Given the description of an element on the screen output the (x, y) to click on. 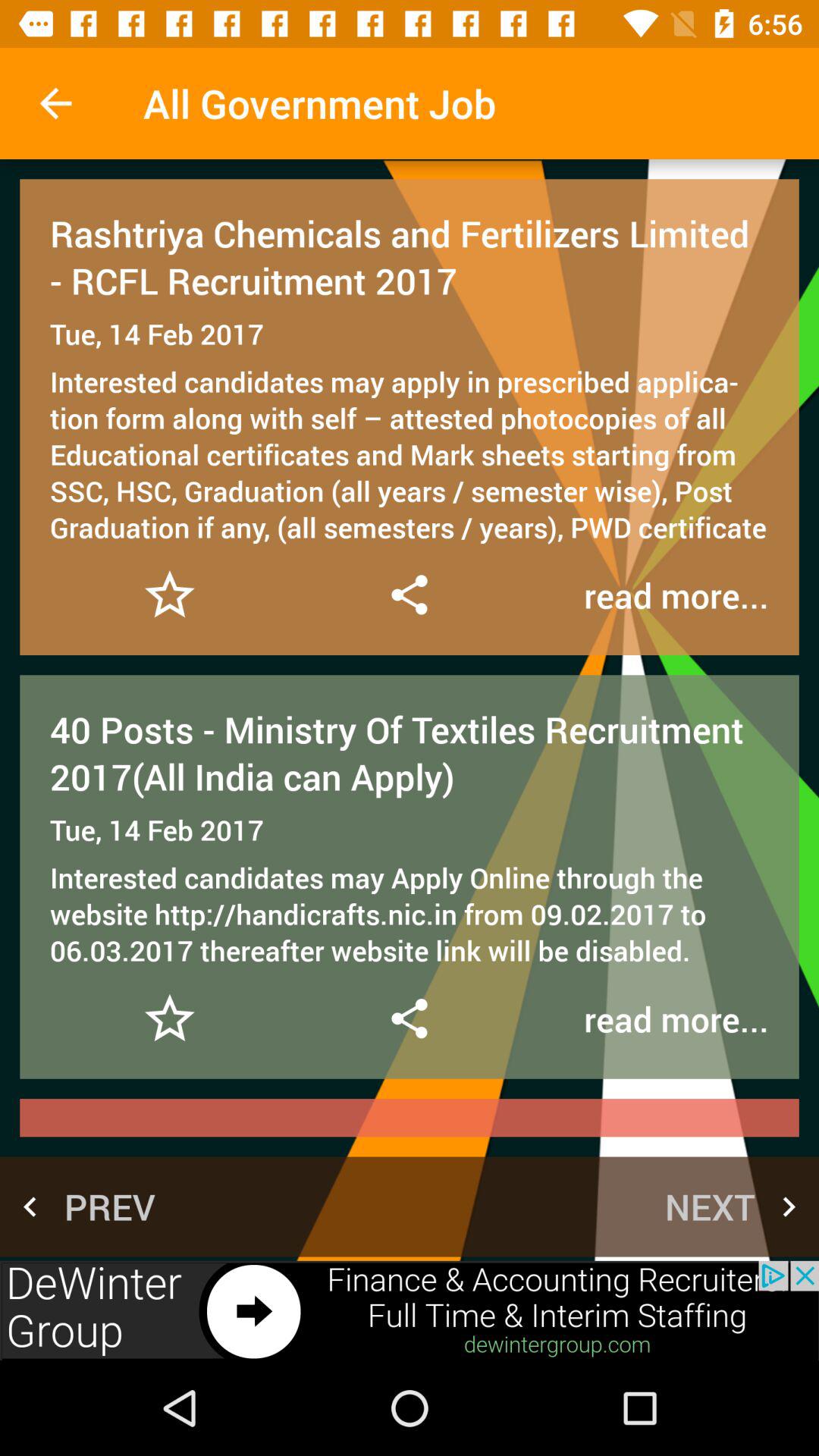
go to rating (169, 1018)
